Given the description of an element on the screen output the (x, y) to click on. 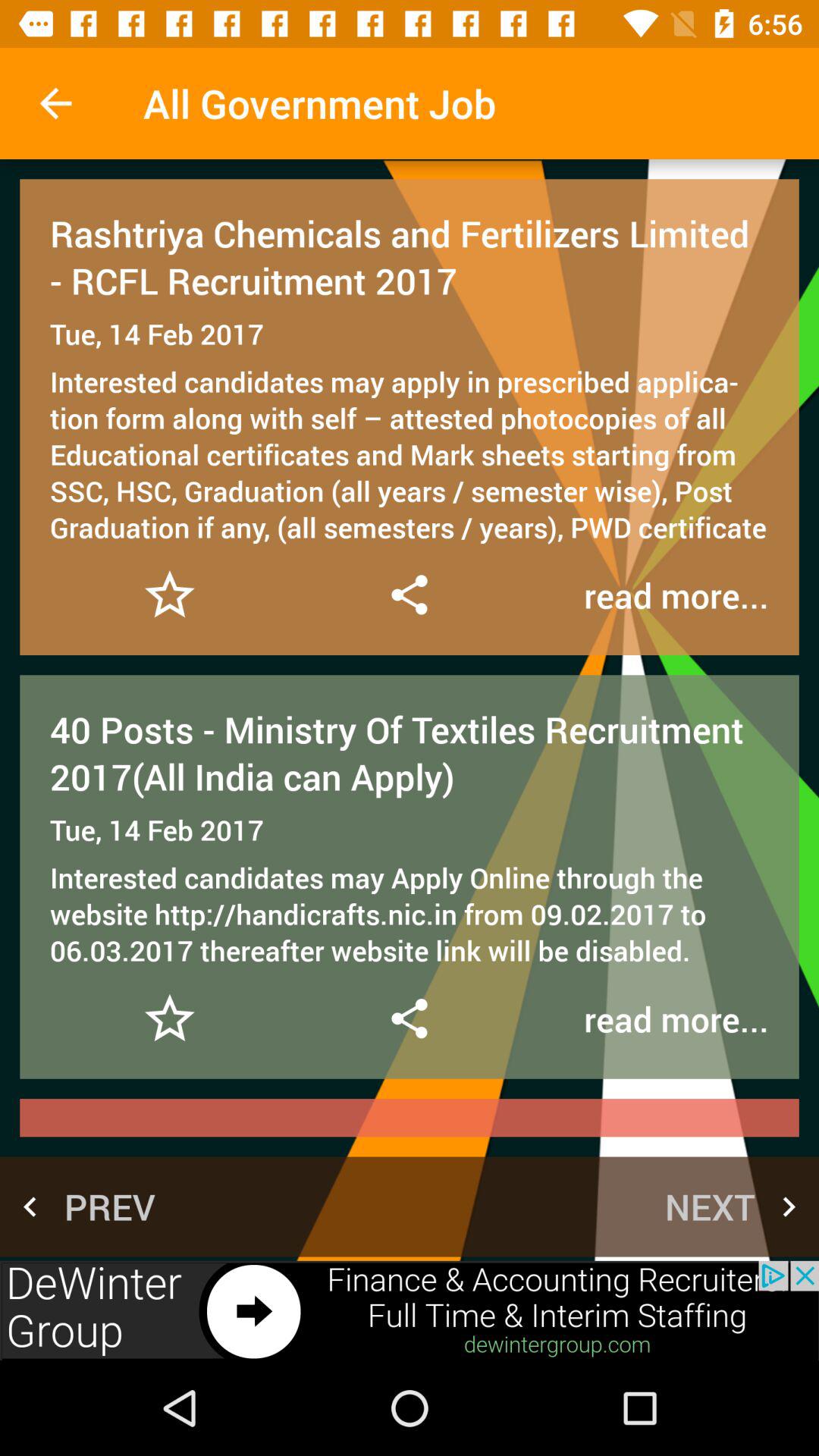
go to rating (169, 1018)
